Given the description of an element on the screen output the (x, y) to click on. 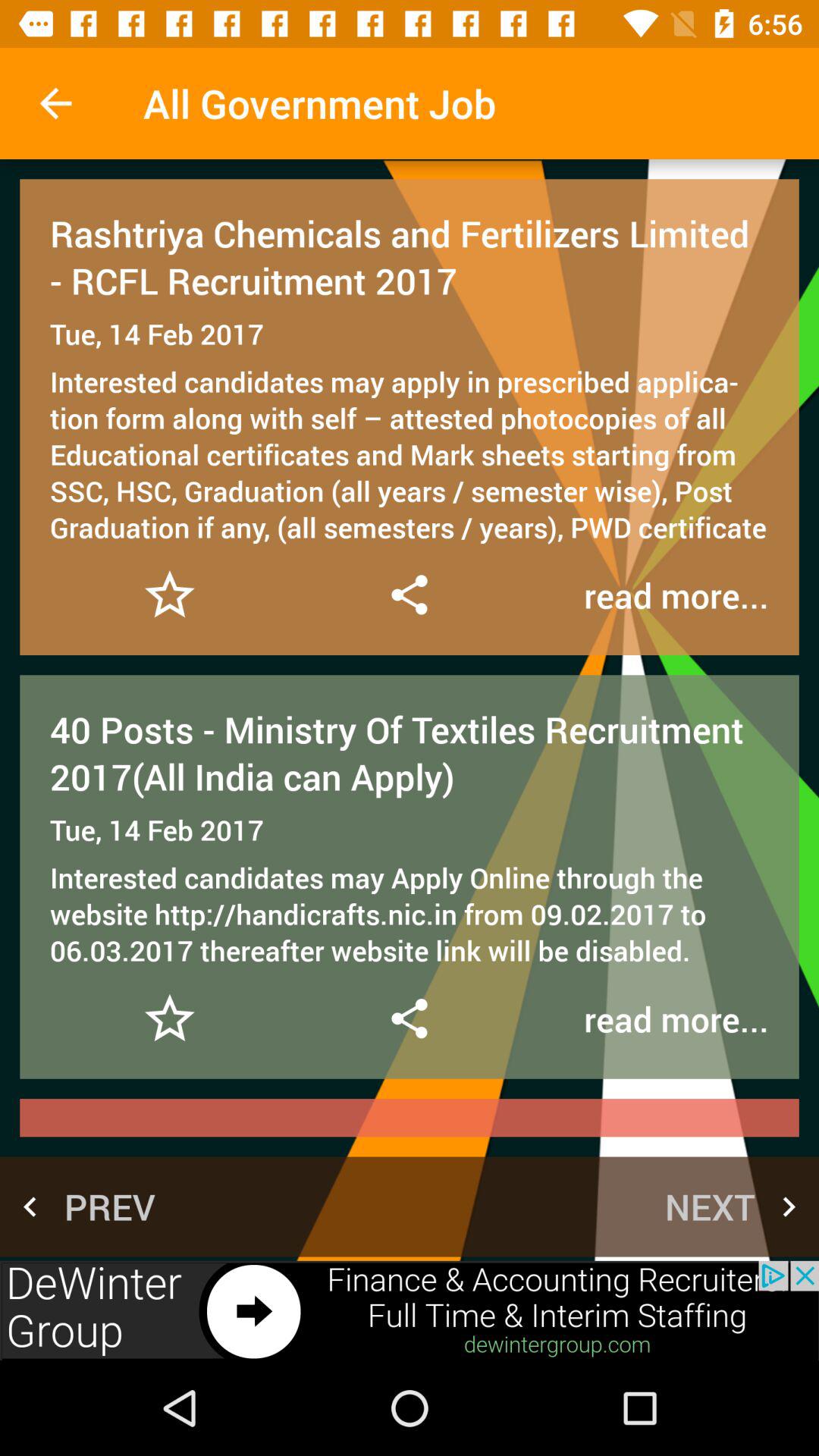
go to rating (169, 1018)
